Given the description of an element on the screen output the (x, y) to click on. 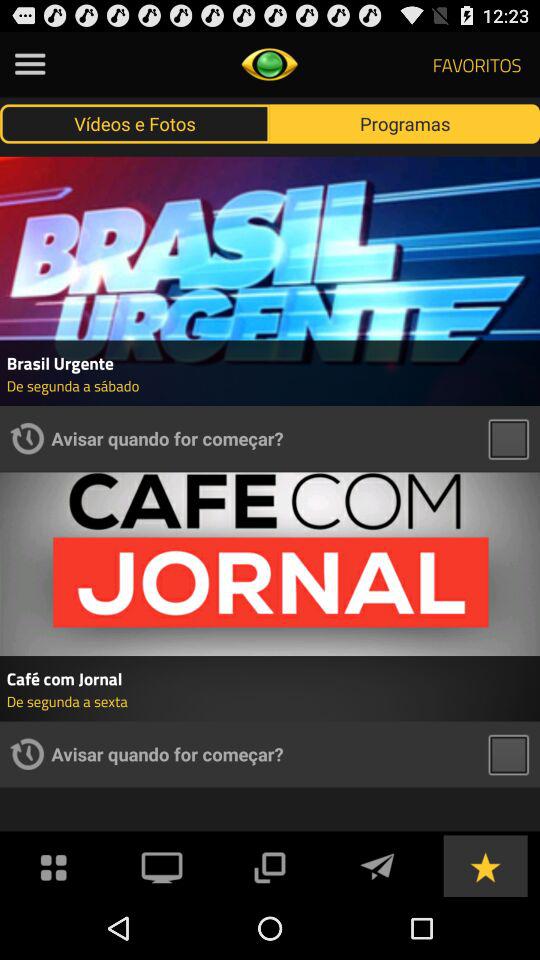
favourites (485, 865)
